Given the description of an element on the screen output the (x, y) to click on. 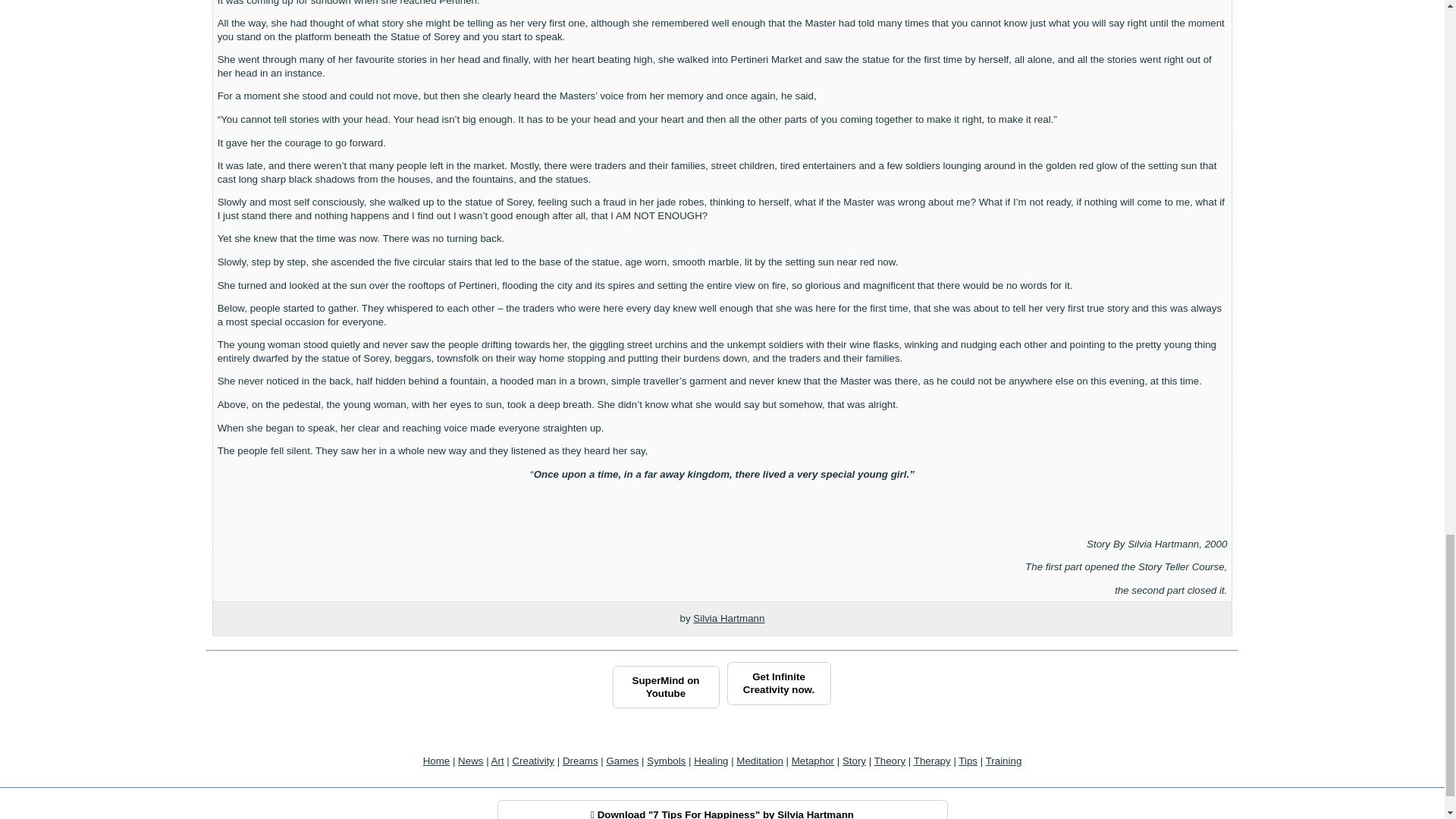
Infinite Creativity by Silvia Hartmann (777, 683)
Youtube Vids (665, 687)
